Given the description of an element on the screen output the (x, y) to click on. 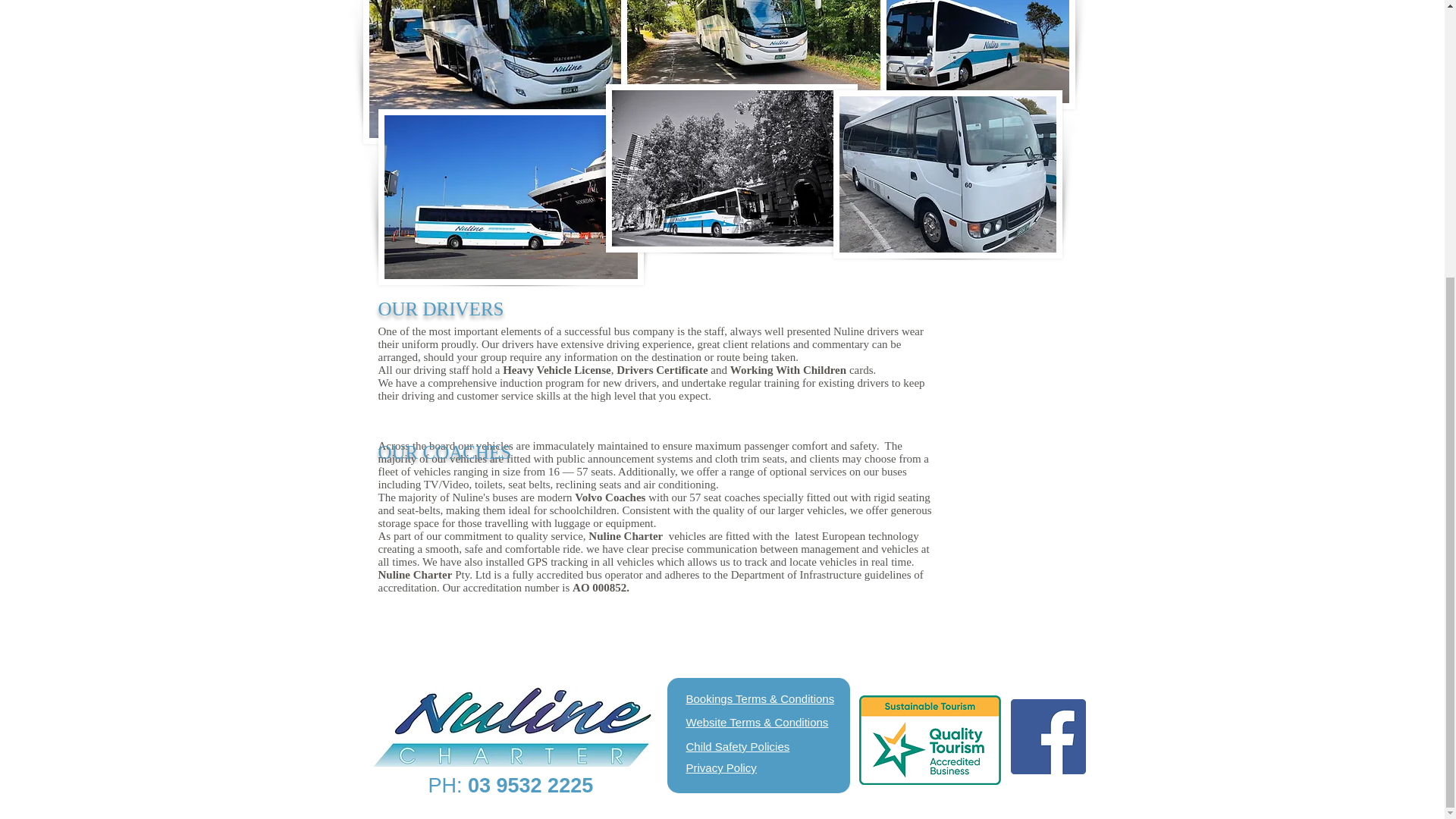
Child Safety Policies (737, 746)
Privacy Policy (720, 767)
